Given the description of an element on the screen output the (x, y) to click on. 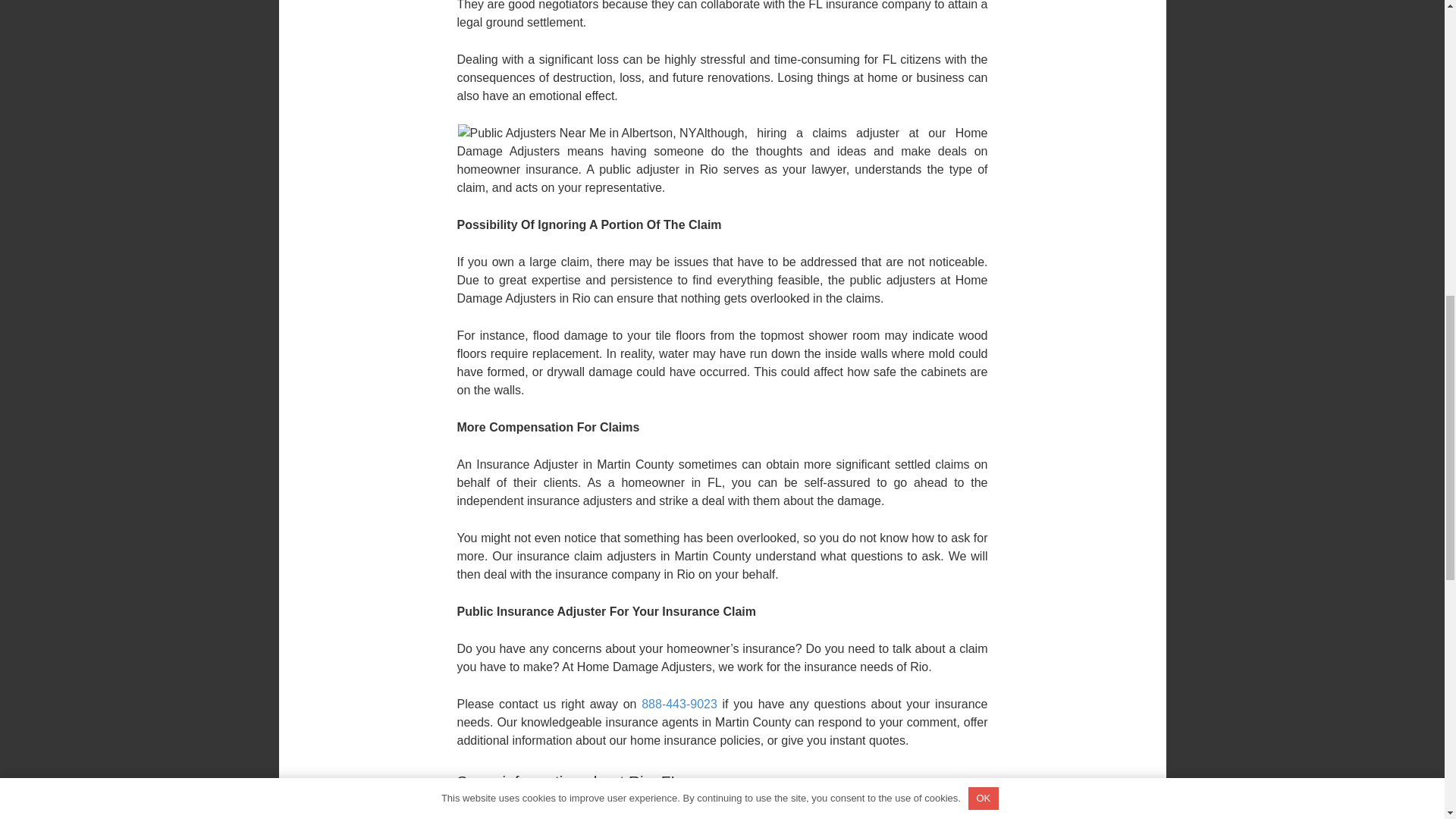
Public Adjusters Near Me in Albertson, NY (577, 133)
888-443-9023 (679, 703)
